Given the description of an element on the screen output the (x, y) to click on. 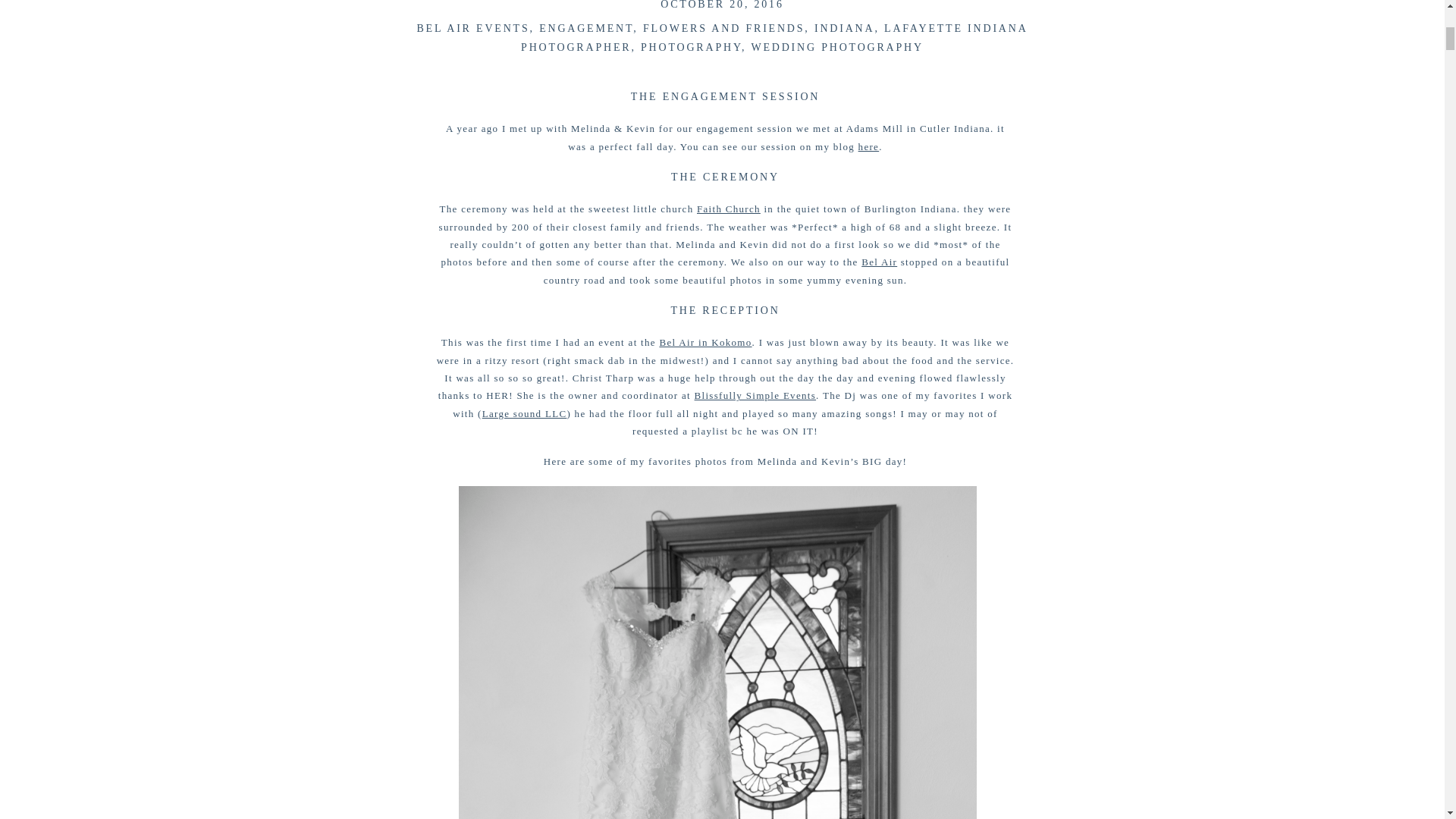
PHOTOGRAPHY (690, 47)
FLOWERS AND FRIENDS (724, 28)
Large sound LLC (524, 413)
WEDDING PHOTOGRAPHY (837, 47)
ENGAGEMENT (585, 28)
BEL AIR EVENTS (472, 28)
Bel Air in Kokomo (705, 342)
INDIANA (844, 28)
Bel Air (878, 261)
Blissfully Simple Events (754, 395)
here (869, 146)
Faith Church (728, 208)
LAFAYETTE INDIANA PHOTOGRAPHER (774, 37)
